Given the description of an element on the screen output the (x, y) to click on. 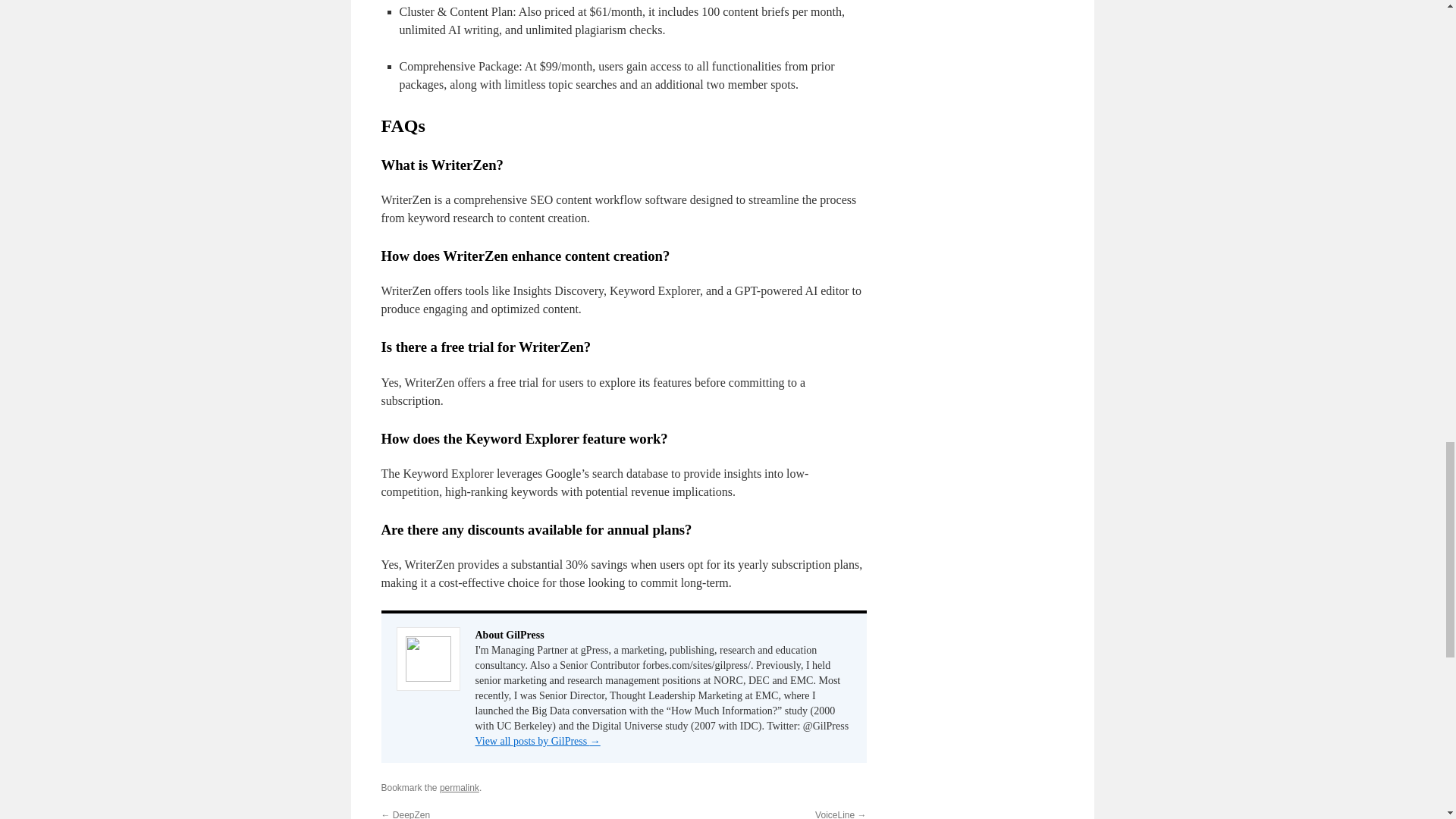
permalink (459, 787)
Permalink to WriterZen (459, 787)
